Given the description of an element on the screen output the (x, y) to click on. 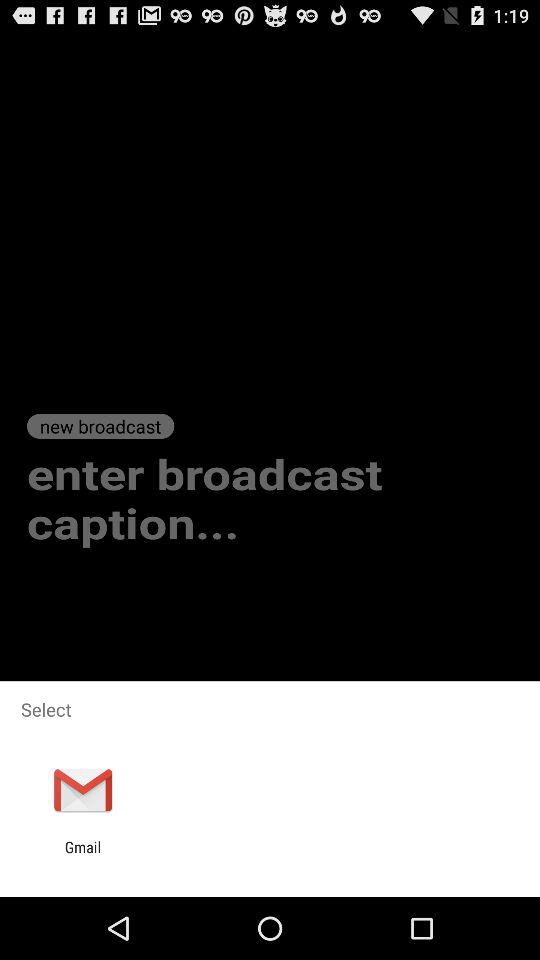
choose gmail icon (82, 856)
